Given the description of an element on the screen output the (x, y) to click on. 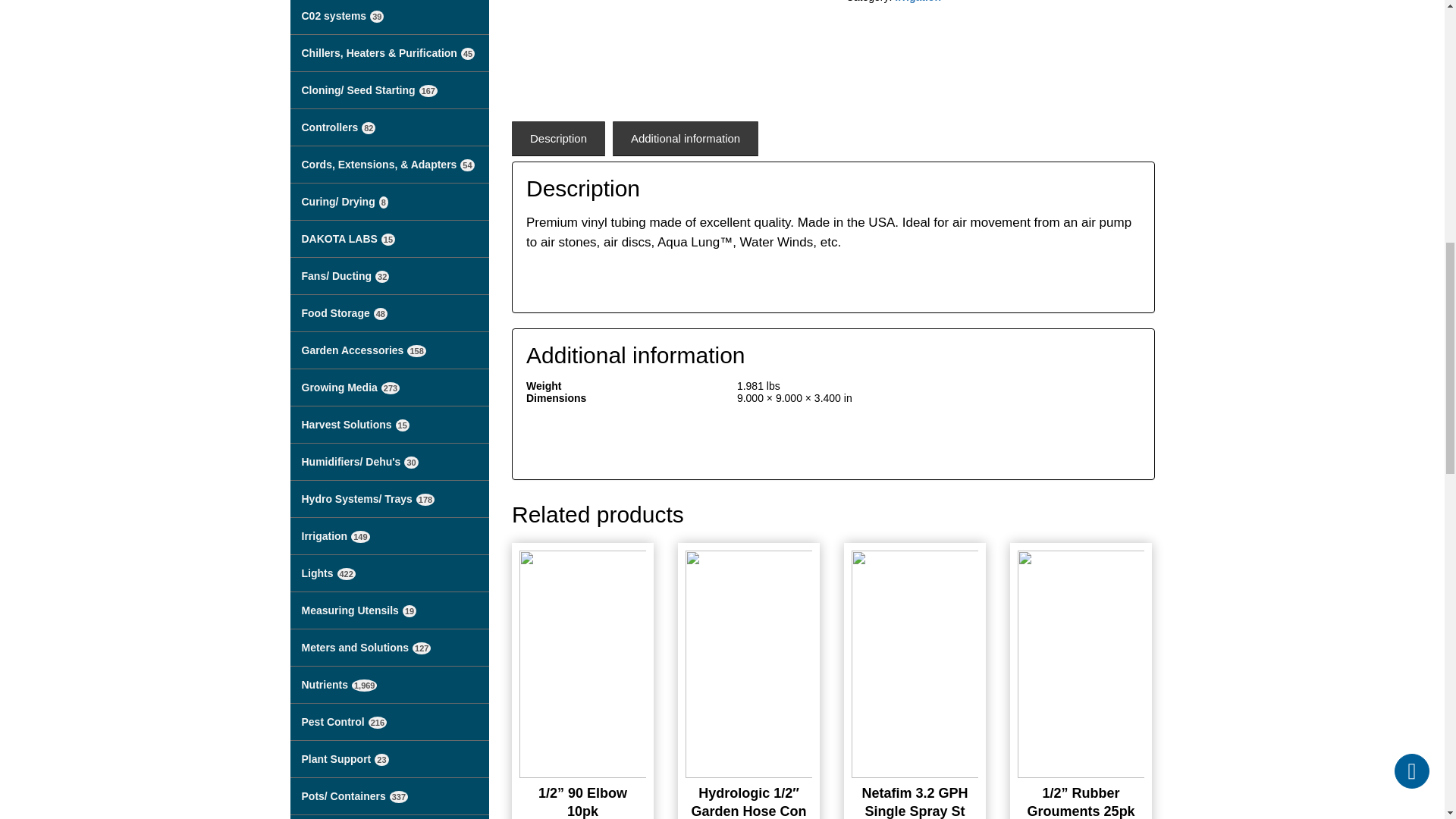
C02 systems39 (389, 17)
Food Storage48 (389, 313)
Harvest Solutions15 (389, 424)
Controllers82 (389, 127)
Growing Media273 (389, 387)
Garden Accessories158 (389, 350)
DAKOTA LABS15 (389, 238)
